Given the description of an element on the screen output the (x, y) to click on. 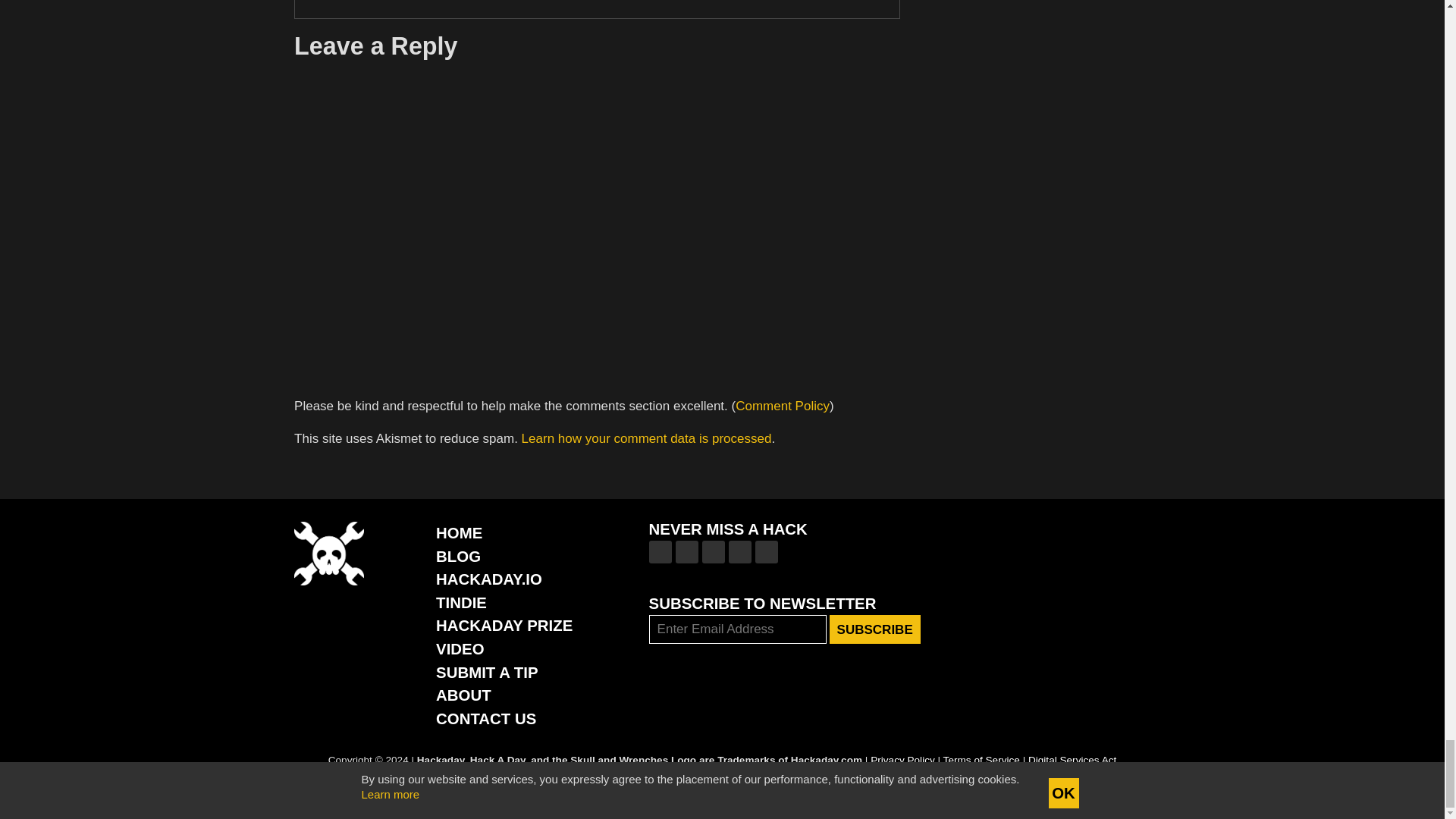
Subscribe (874, 629)
Build Something that Matters (503, 625)
